Given the description of an element on the screen output the (x, y) to click on. 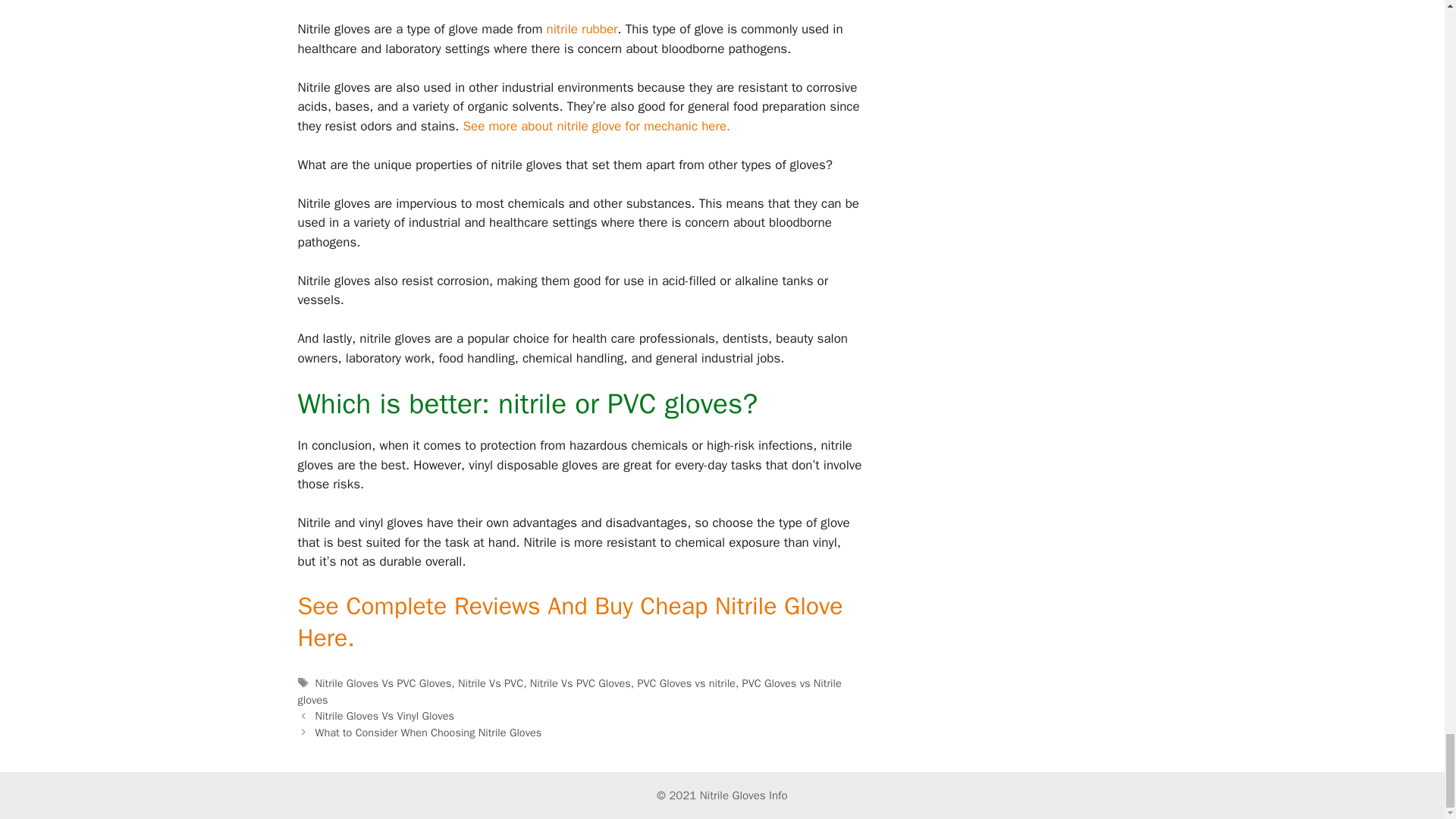
Nitrile Gloves Vs Vinyl Gloves (384, 715)
Nitrile Vs PVC Gloves (579, 683)
PVC Gloves vs Nitrile gloves (569, 691)
nitrile rubber (581, 28)
What to Consider When Choosing Nitrile Gloves (428, 732)
Nitrile Gloves Vs PVC Gloves (383, 683)
Nitrile Vs PVC (490, 683)
PVC Gloves vs nitrile (686, 683)
See more about nitrile glove for mechanic here. (596, 125)
See Complete Reviews And Buy Cheap Nitrile Glove Here. (570, 621)
